Given the description of an element on the screen output the (x, y) to click on. 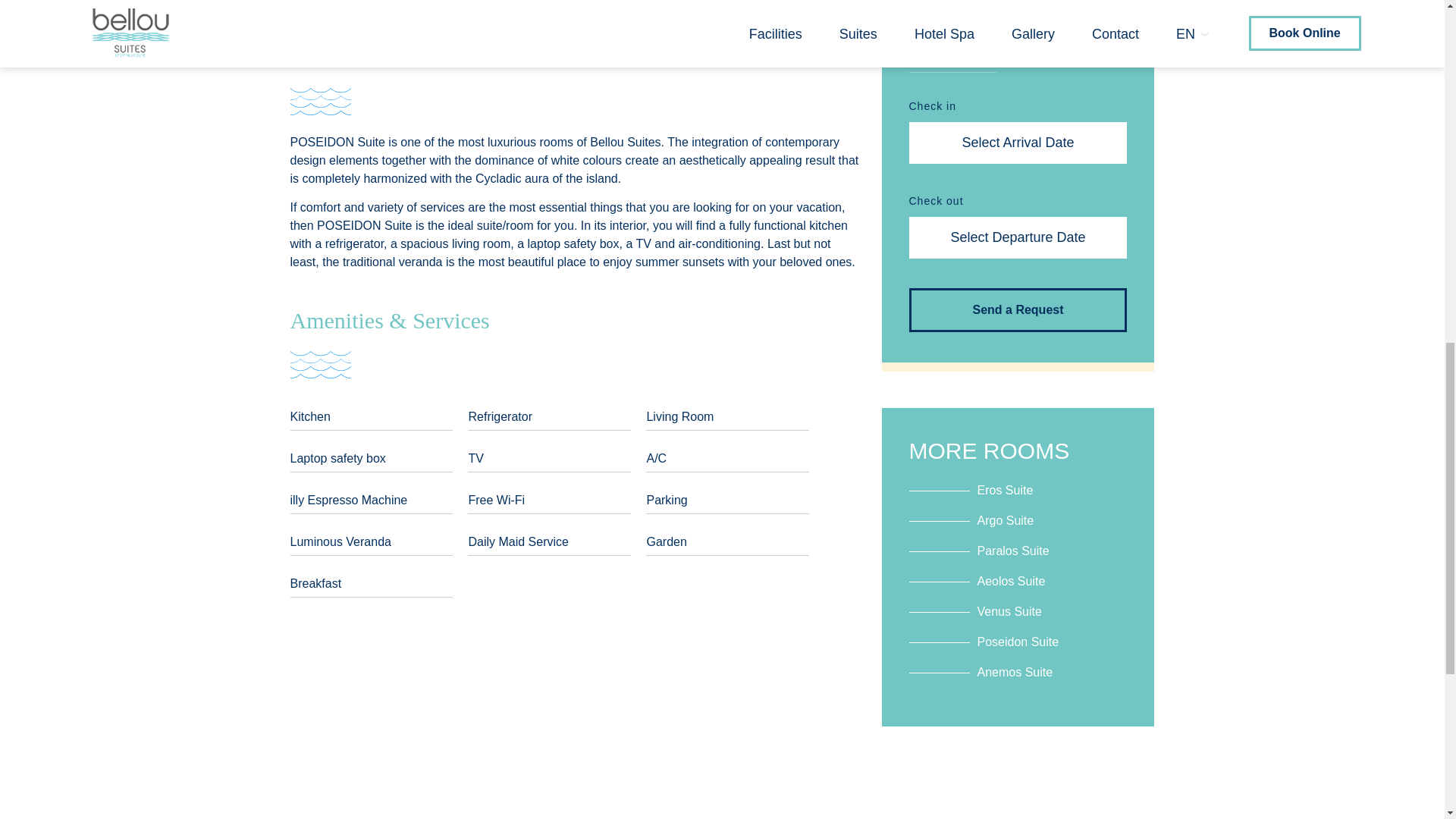
Paralos Suite (978, 548)
Anemos Suite (980, 670)
Poseidon Suite (983, 639)
Send a Request (1017, 309)
Venus Suite (974, 609)
Eros Suite (970, 488)
Aeolos Suite (976, 579)
Argo Suite (970, 518)
